Given the description of an element on the screen output the (x, y) to click on. 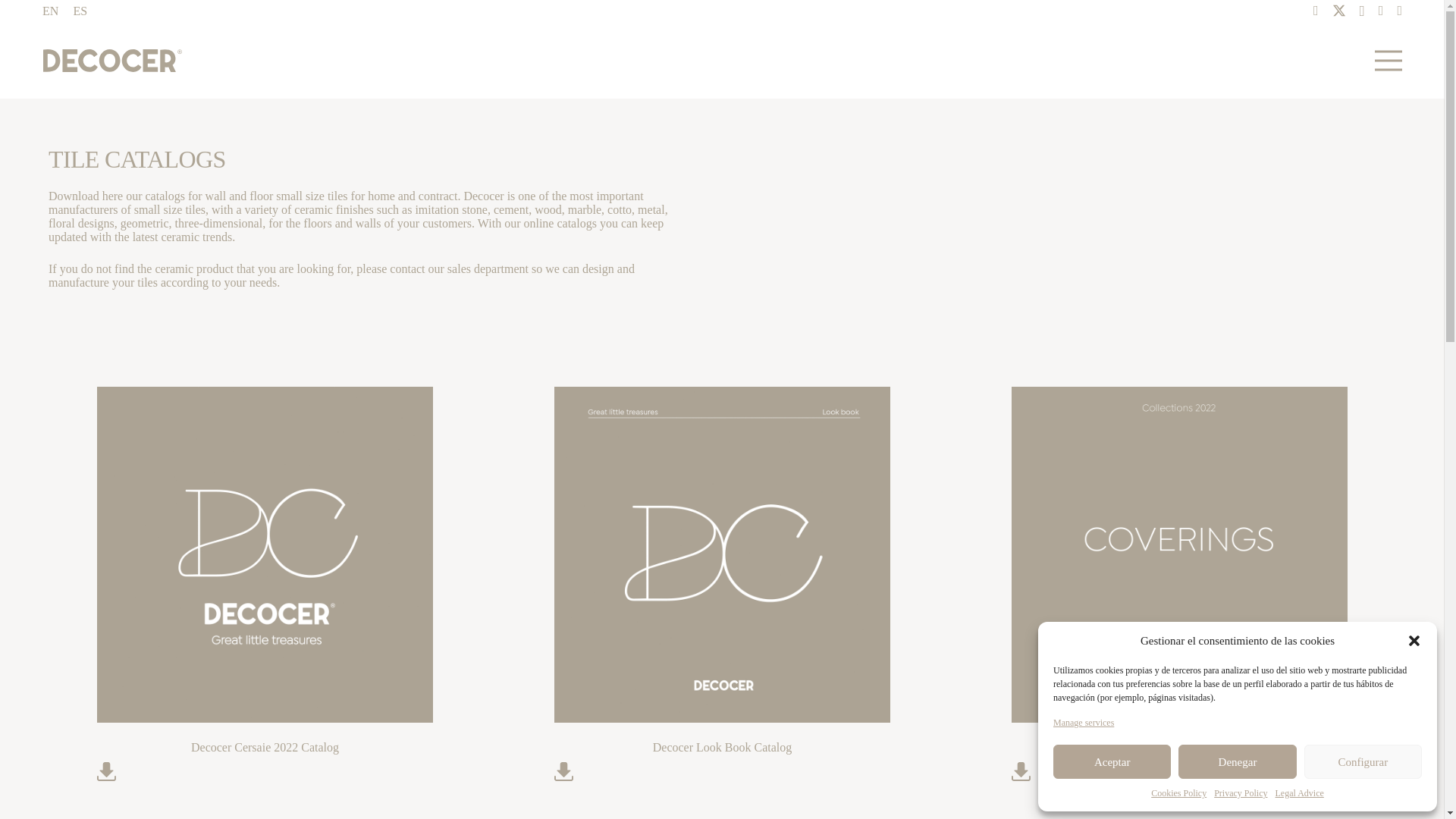
Configurar (1363, 761)
Legal Advice (1299, 793)
Privacy Policy (1240, 793)
EN (50, 10)
Aceptar (1111, 761)
Manage services (1082, 722)
Denegar (1236, 761)
ES (80, 10)
Cookies Policy (1179, 793)
Twitter (1338, 11)
